Given the description of an element on the screen output the (x, y) to click on. 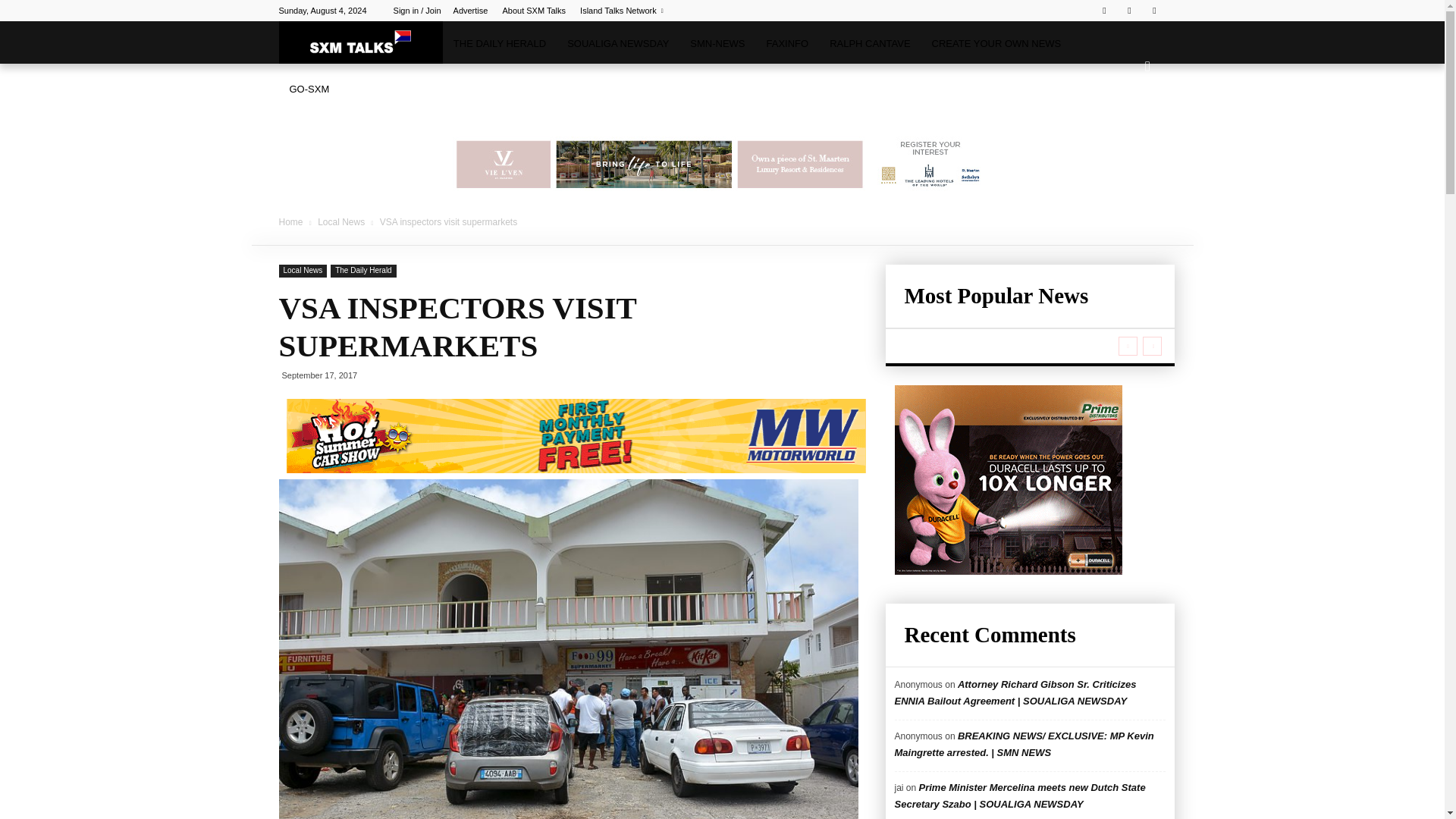
Facebook (1104, 10)
FAXINFO (787, 43)
Twitter (1129, 10)
SOUALIGA NEWSDAY (617, 43)
View all posts in Local News (341, 222)
Advertise (469, 10)
THE DAILY HERALD (499, 43)
RALPH CANTAVE (869, 43)
SXM Talks (360, 42)
SMN-NEWS (717, 43)
Youtube (1154, 10)
Island Talks Network (621, 10)
About SXM Talks (534, 10)
